Given the description of an element on the screen output the (x, y) to click on. 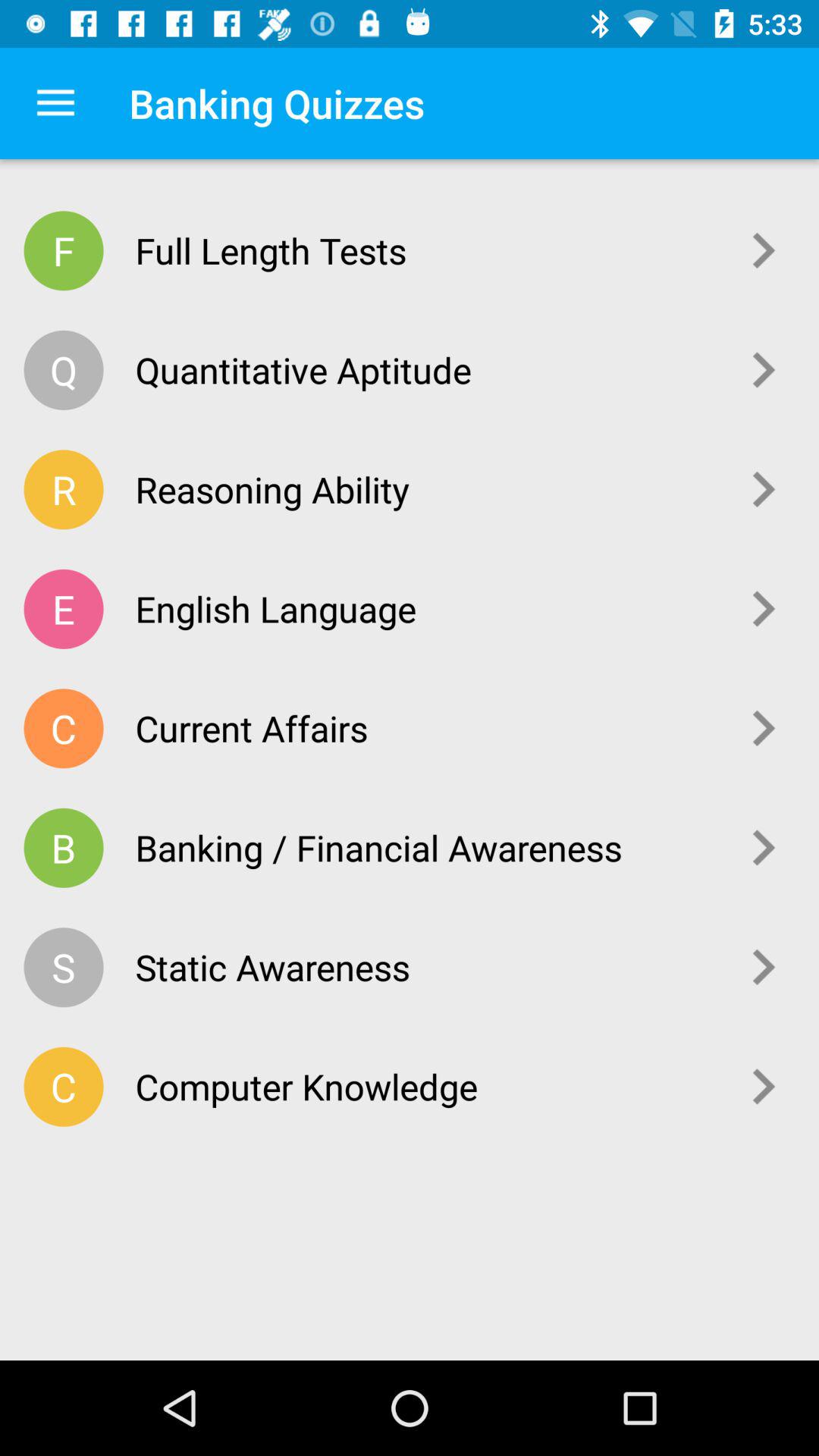
turn off the icon above the computer knowledge item (425, 966)
